Given the description of an element on the screen output the (x, y) to click on. 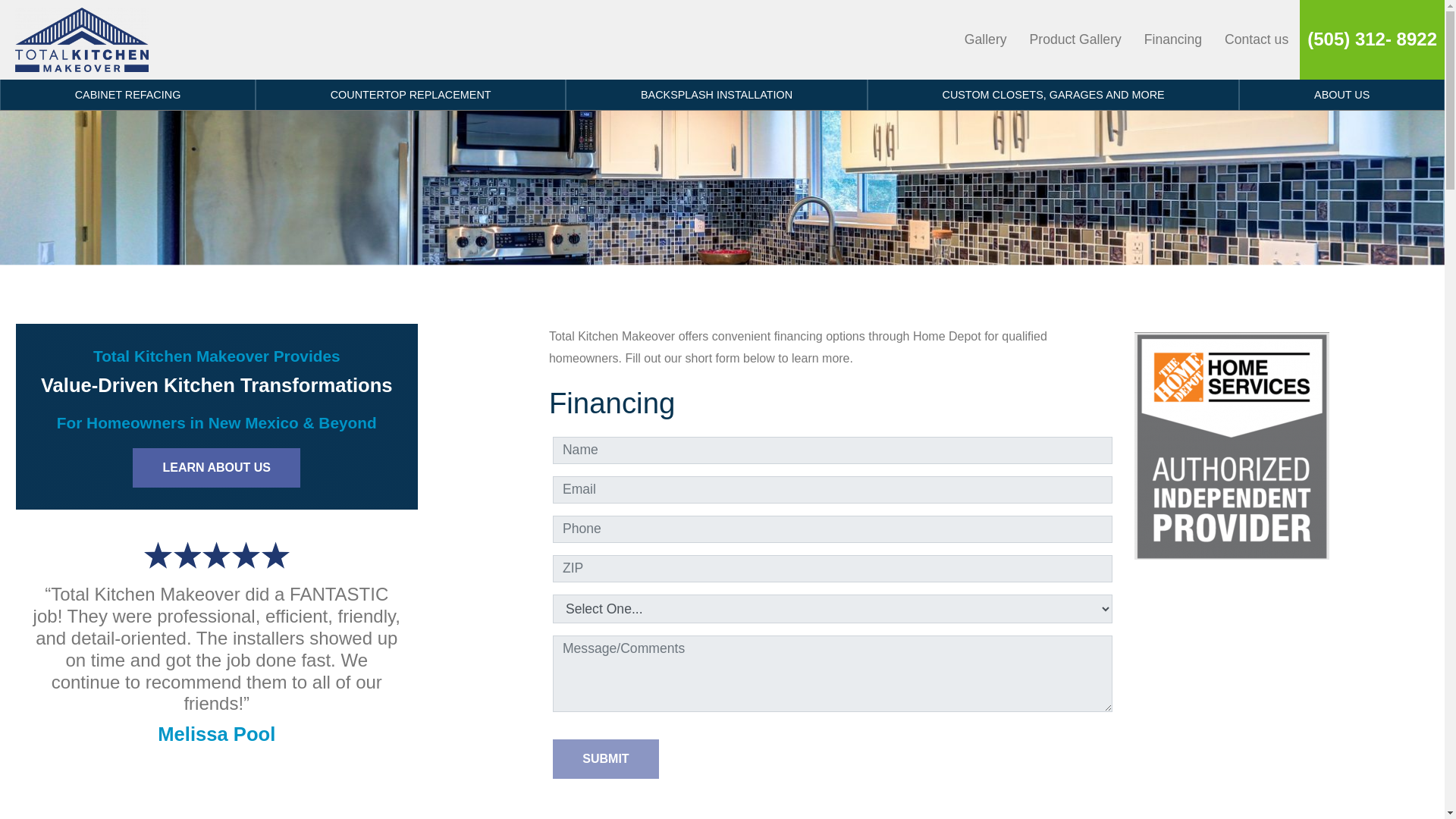
BACKSPLASH INSTALLATION (716, 94)
Total Kitchen Makeover (81, 39)
Product Gallery (1074, 40)
Submit (606, 758)
CUSTOM CLOSETS, GARAGES AND MORE (1053, 94)
Financing (1172, 40)
COUNTERTOP REPLACEMENT (411, 94)
LEARN ABOUT US (215, 467)
Submit (606, 758)
CABINET REFACING (128, 94)
Contact us (1256, 40)
Gallery (985, 40)
